Given the description of an element on the screen output the (x, y) to click on. 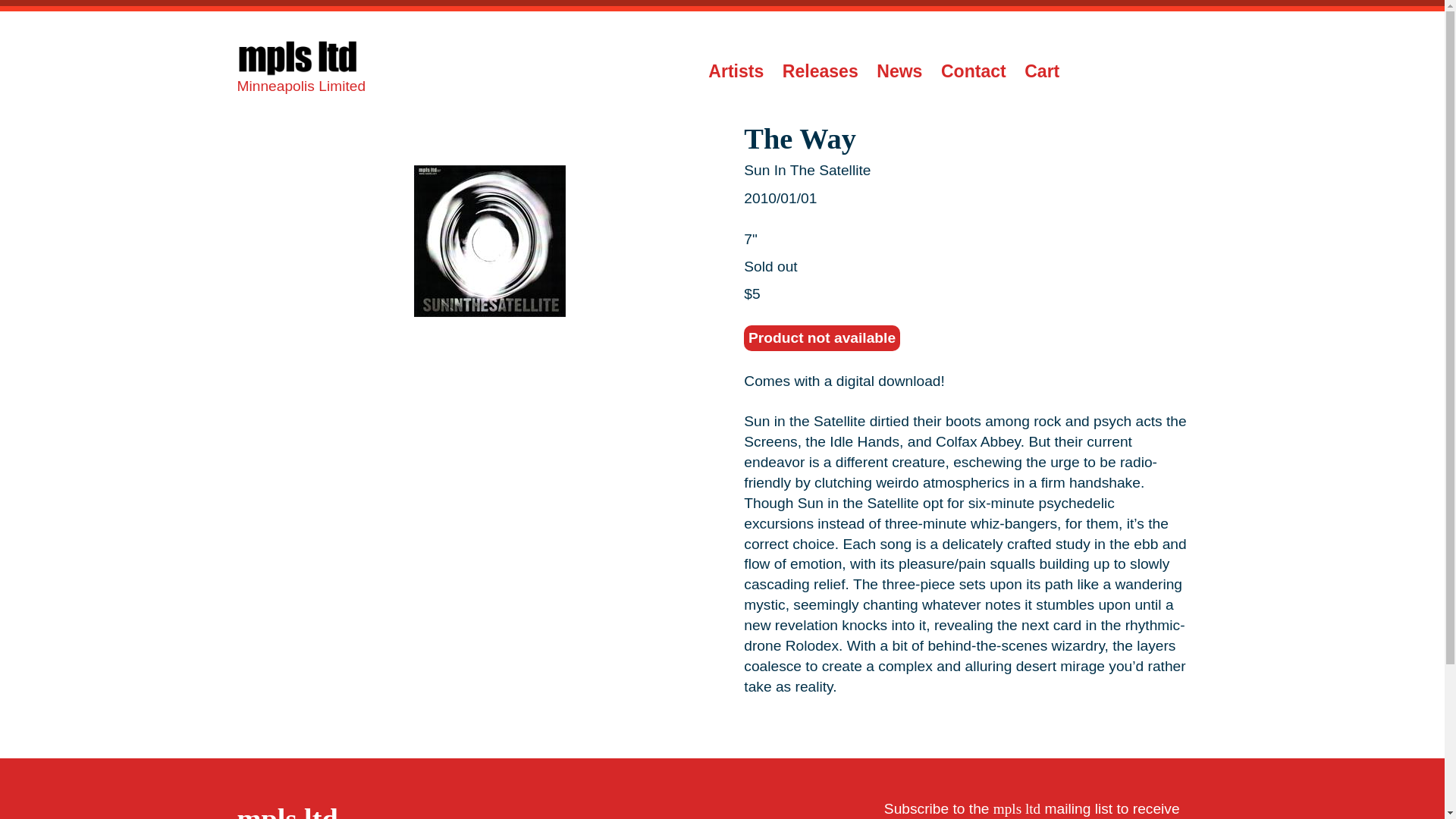
Contact (973, 70)
Minneapolis Limited (301, 71)
Cart (1042, 70)
Releases (821, 70)
Artists (734, 70)
Product not available (821, 338)
Product not available (821, 338)
News (898, 70)
